Given the description of an element on the screen output the (x, y) to click on. 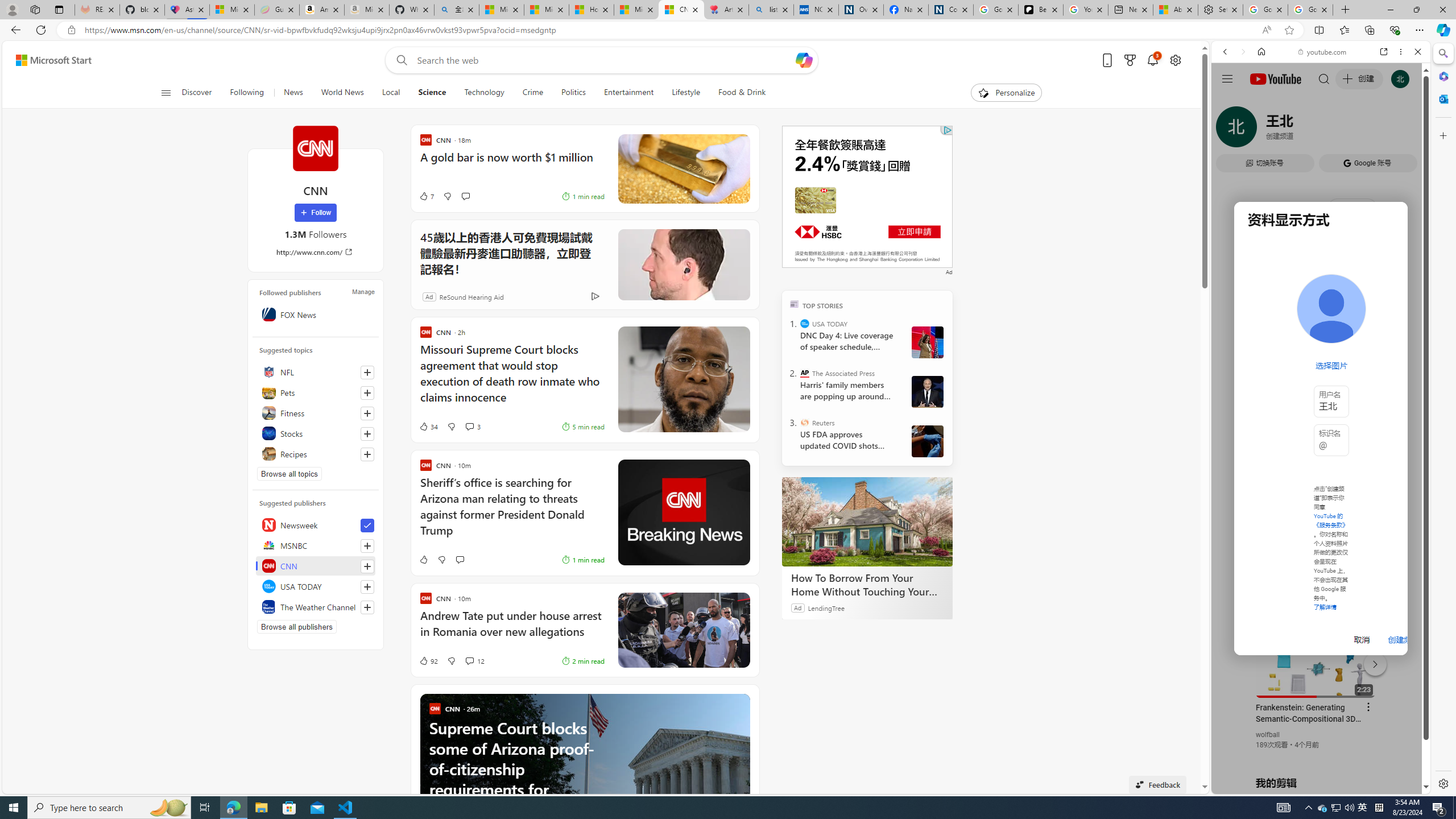
Search Filter, VIDEOS (1300, 129)
News (292, 92)
Follow this topic (367, 454)
YouTube - YouTube (1315, 560)
Forward (1242, 51)
How I Got Rid of Microsoft Edge's Unnecessary Features (591, 9)
MSNBC (315, 545)
Start the conversation (459, 560)
